Given the description of an element on the screen output the (x, y) to click on. 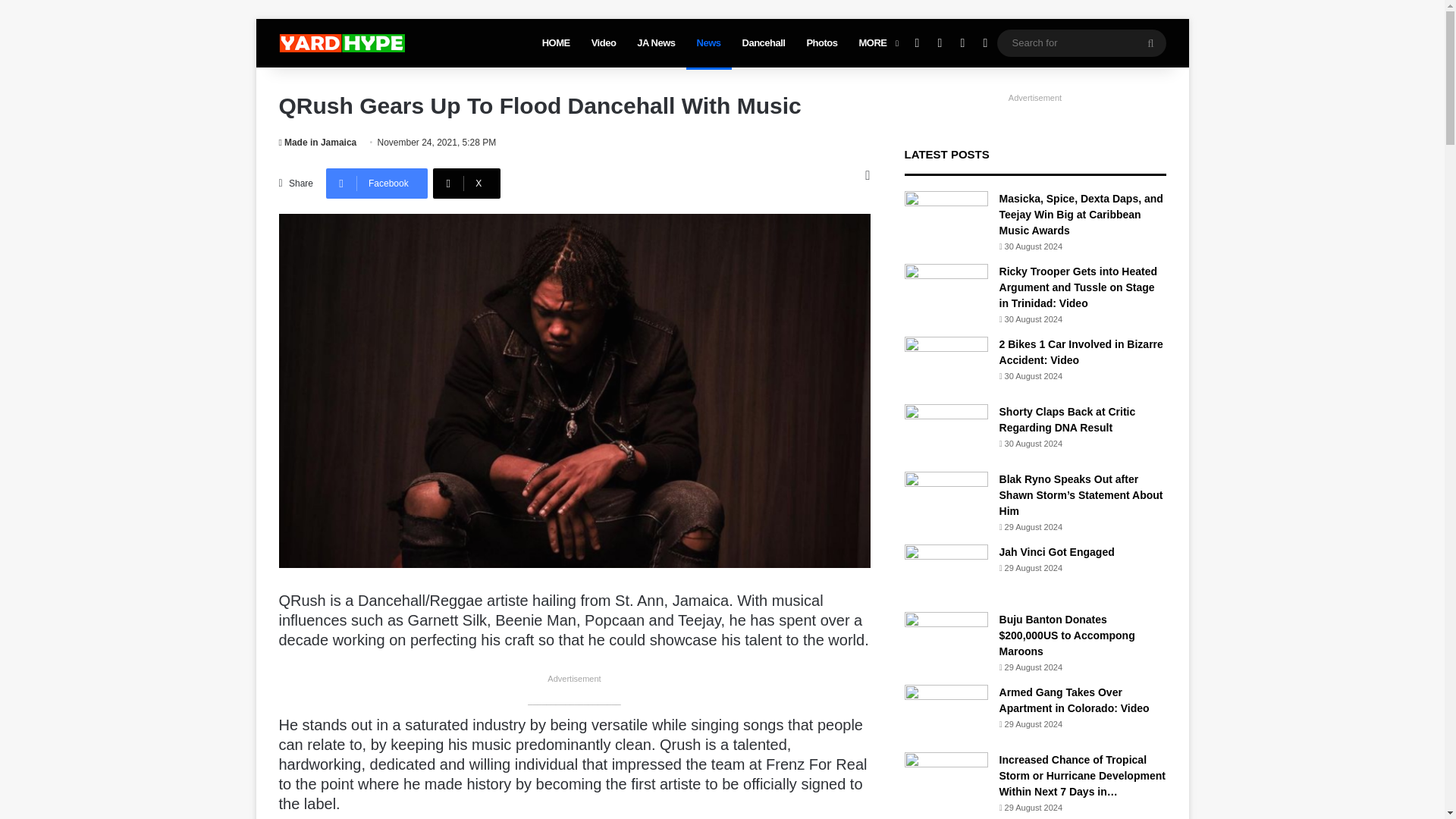
JA News (655, 42)
Made in Jamaica (317, 142)
X (466, 183)
Search for (1080, 42)
Made in Jamaica (317, 142)
HOME (555, 42)
Facebook (377, 183)
Video (603, 42)
Photos (820, 42)
Dancehall (764, 42)
